Given the description of an element on the screen output the (x, y) to click on. 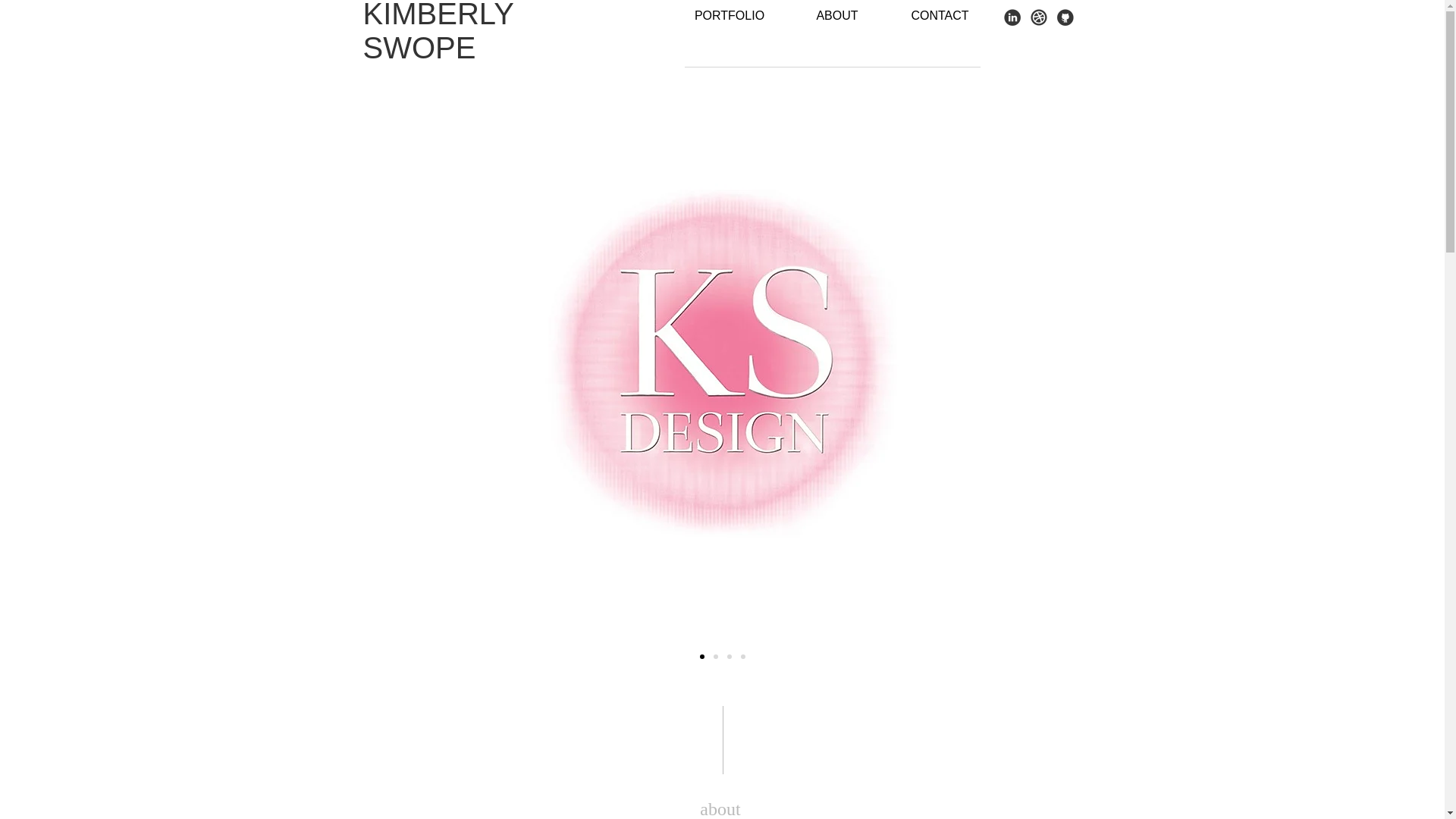
ABOUT (837, 15)
KIMBERLY SWOPE (437, 32)
CONTACT (938, 15)
PORTFOLIO (728, 15)
